Given the description of an element on the screen output the (x, y) to click on. 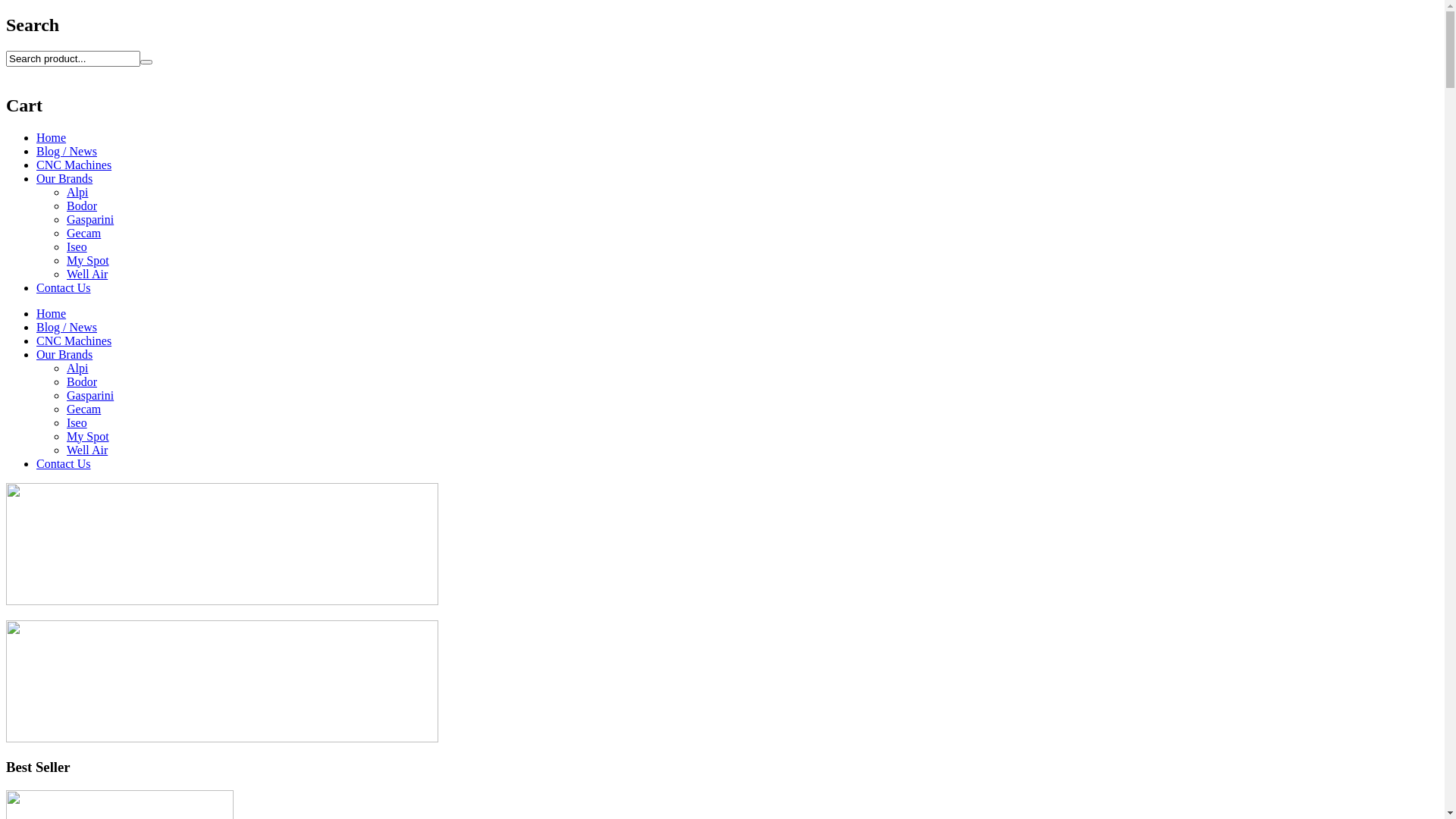
Well Air Element type: text (86, 449)
Contact Us Element type: text (63, 287)
Blog / News Element type: text (66, 326)
Our Brands Element type: text (64, 178)
Home Element type: text (50, 137)
Bodor Element type: text (81, 205)
Alpi Element type: text (76, 191)
Our Brands Element type: text (64, 354)
Gecam Element type: text (83, 408)
Bodor Element type: text (81, 381)
Iseo Element type: text (76, 422)
Gecam Element type: text (83, 232)
Home Element type: text (50, 313)
Gasparini Element type: text (89, 395)
Contact Us Element type: text (63, 463)
Blog / News Element type: text (66, 150)
CNC Machines Element type: text (73, 164)
Alpi Element type: text (76, 367)
My Spot Element type: text (87, 435)
Well Air Element type: text (86, 273)
Gasparini Element type: text (89, 219)
Iseo Element type: text (76, 246)
CNC Machines Element type: text (73, 340)
My Spot Element type: text (87, 260)
